Given the description of an element on the screen output the (x, y) to click on. 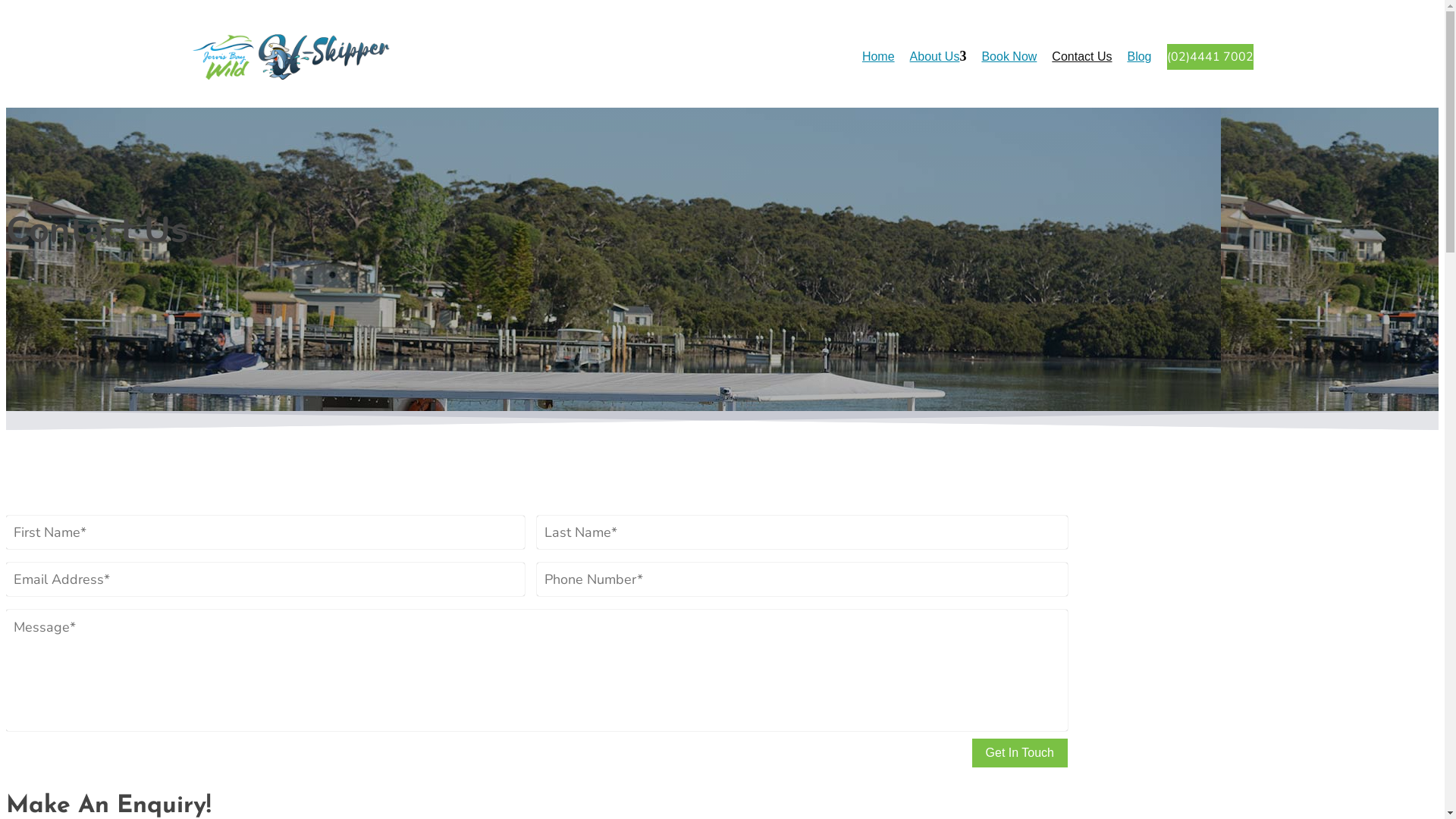
About Us Element type: text (935, 56)
Blog Element type: text (1138, 56)
Contact Us Element type: text (1081, 56)
Home Element type: text (878, 56)
Get In Touch Element type: text (1019, 752)
Book Now Element type: text (1008, 56)
(02)4441 7002 Element type: text (1209, 56)
